Given the description of an element on the screen output the (x, y) to click on. 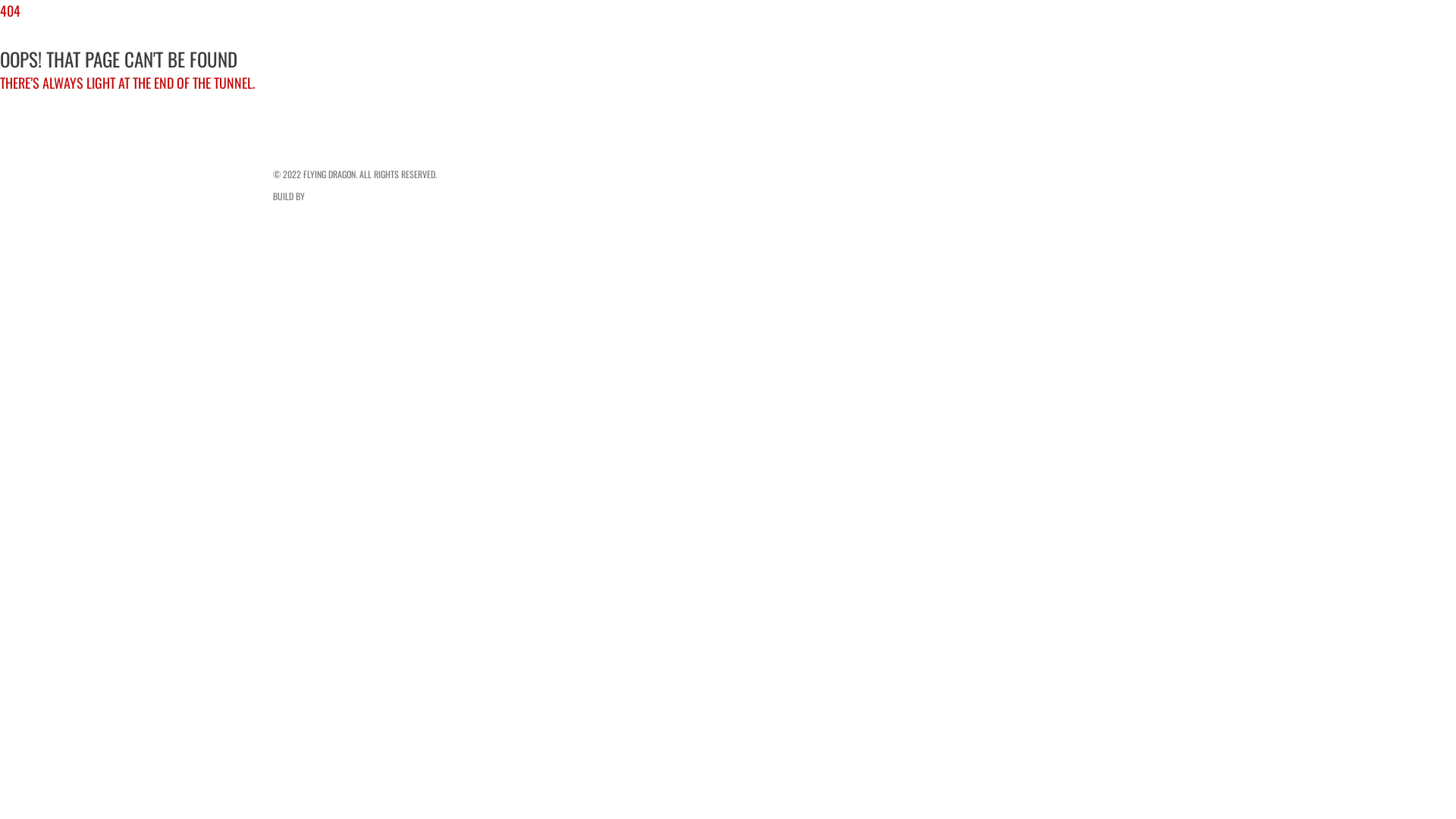
BACK HOME Element type: text (29, 128)
CONVERGE Element type: text (324, 195)
